Given the description of an element on the screen output the (x, y) to click on. 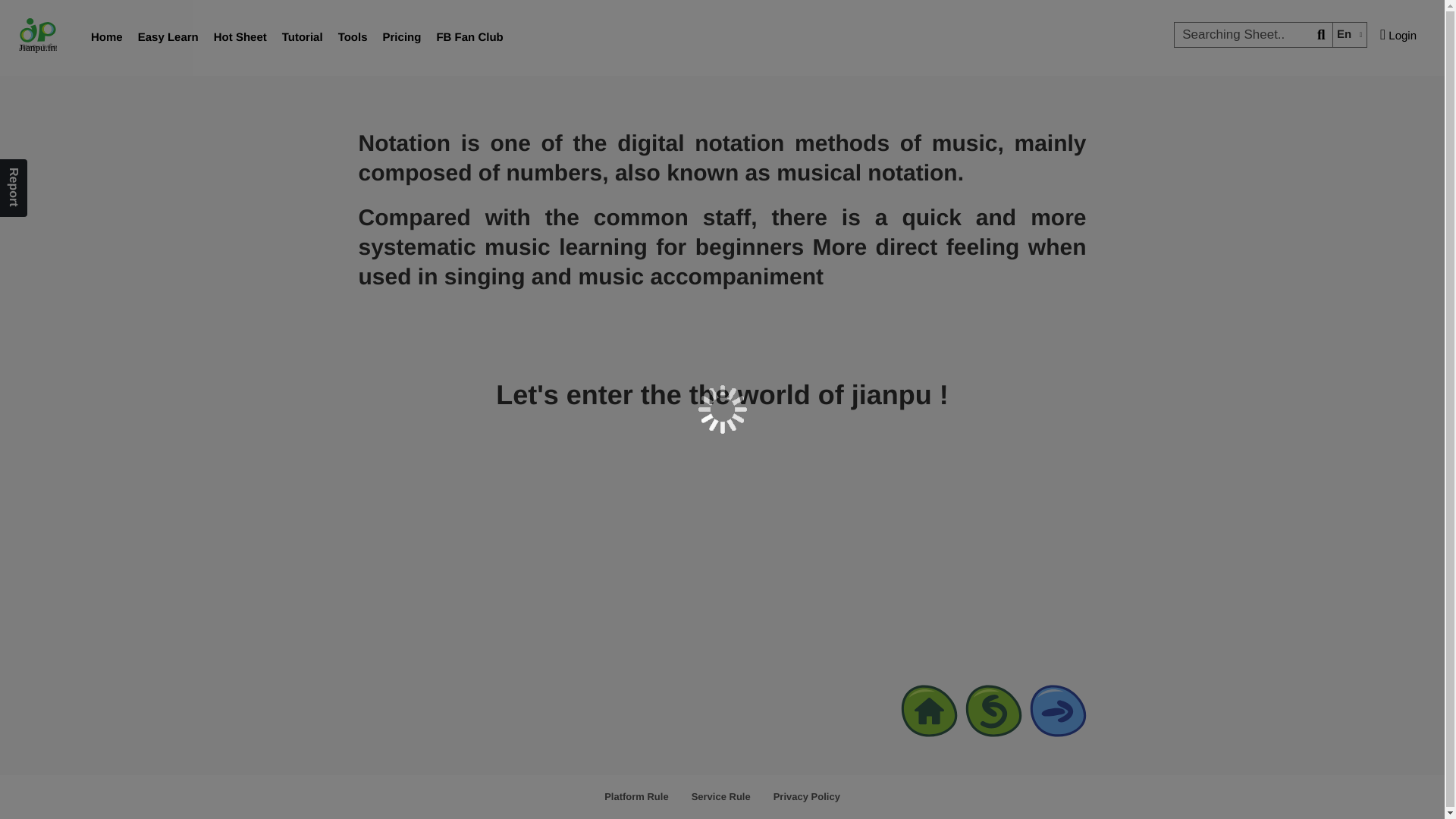
Home (106, 37)
Easy Learn (168, 37)
Tutorial (302, 37)
FB Fan Club (469, 37)
Tools (352, 37)
Previous Page (992, 710)
Next Page (1057, 710)
Hot Sheet (240, 37)
Login (1398, 35)
Table Of Contents (929, 710)
Pricing (402, 37)
